Given the description of an element on the screen output the (x, y) to click on. 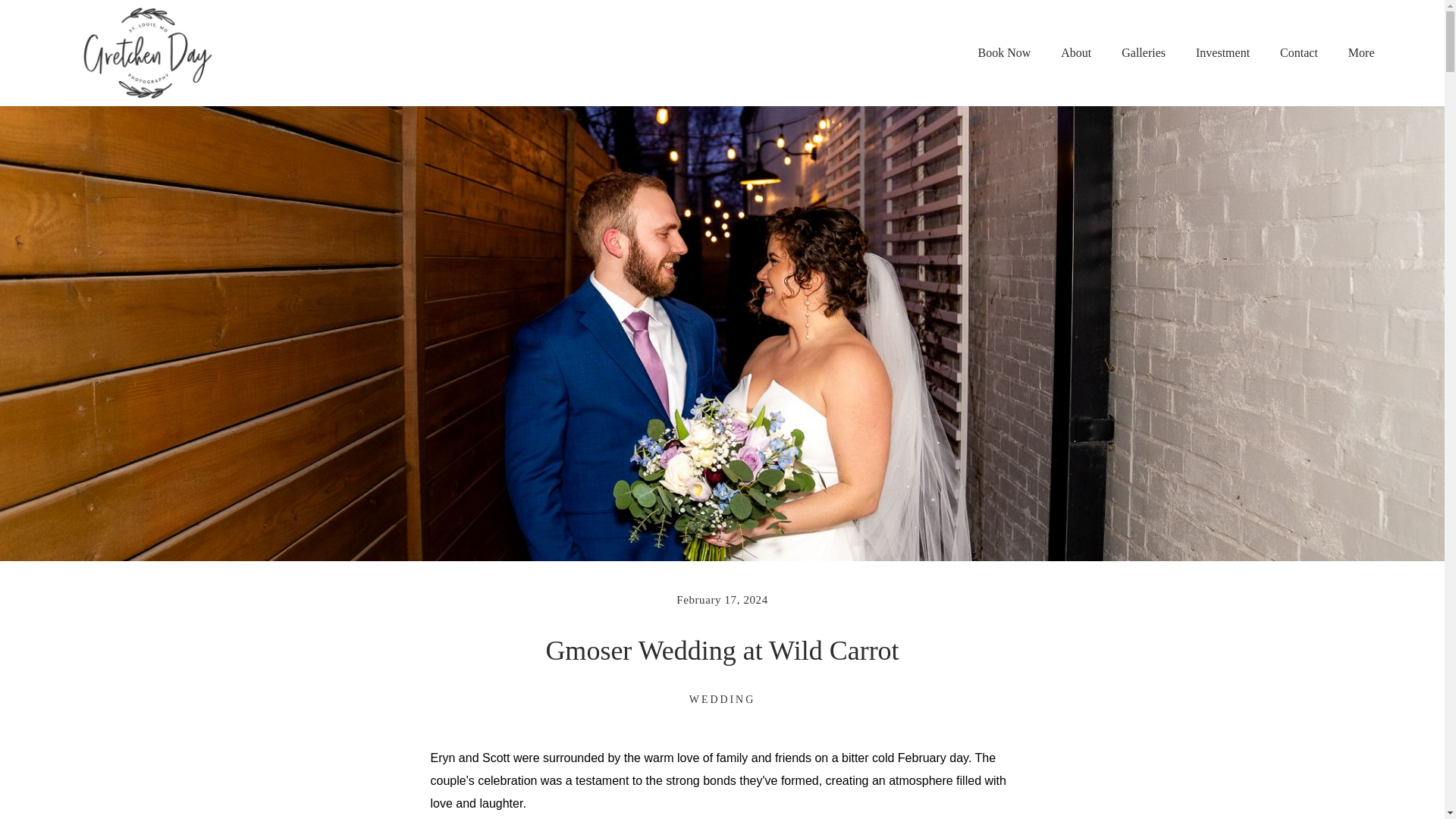
Contact (1298, 53)
About (1075, 53)
More (1367, 53)
WEDDING (721, 699)
Galleries (1143, 53)
Book Now (1003, 53)
Investment (1222, 53)
